Given the description of an element on the screen output the (x, y) to click on. 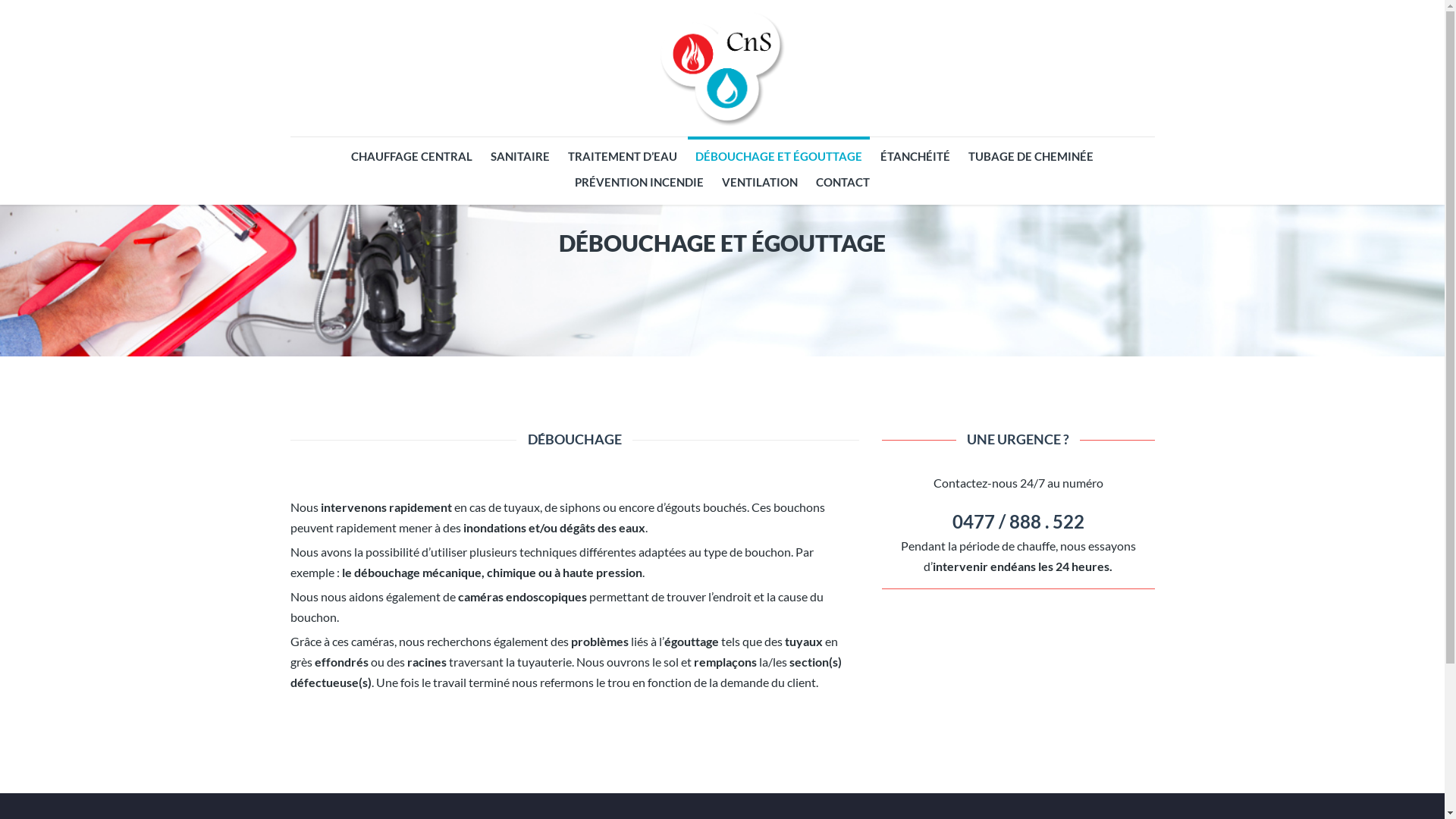
SANITAIRE Element type: text (520, 156)
VENTILATION Element type: text (759, 181)
CHAUFFAGE CENTRAL Element type: text (411, 156)
CONTACT Element type: text (842, 181)
